Given the description of an element on the screen output the (x, y) to click on. 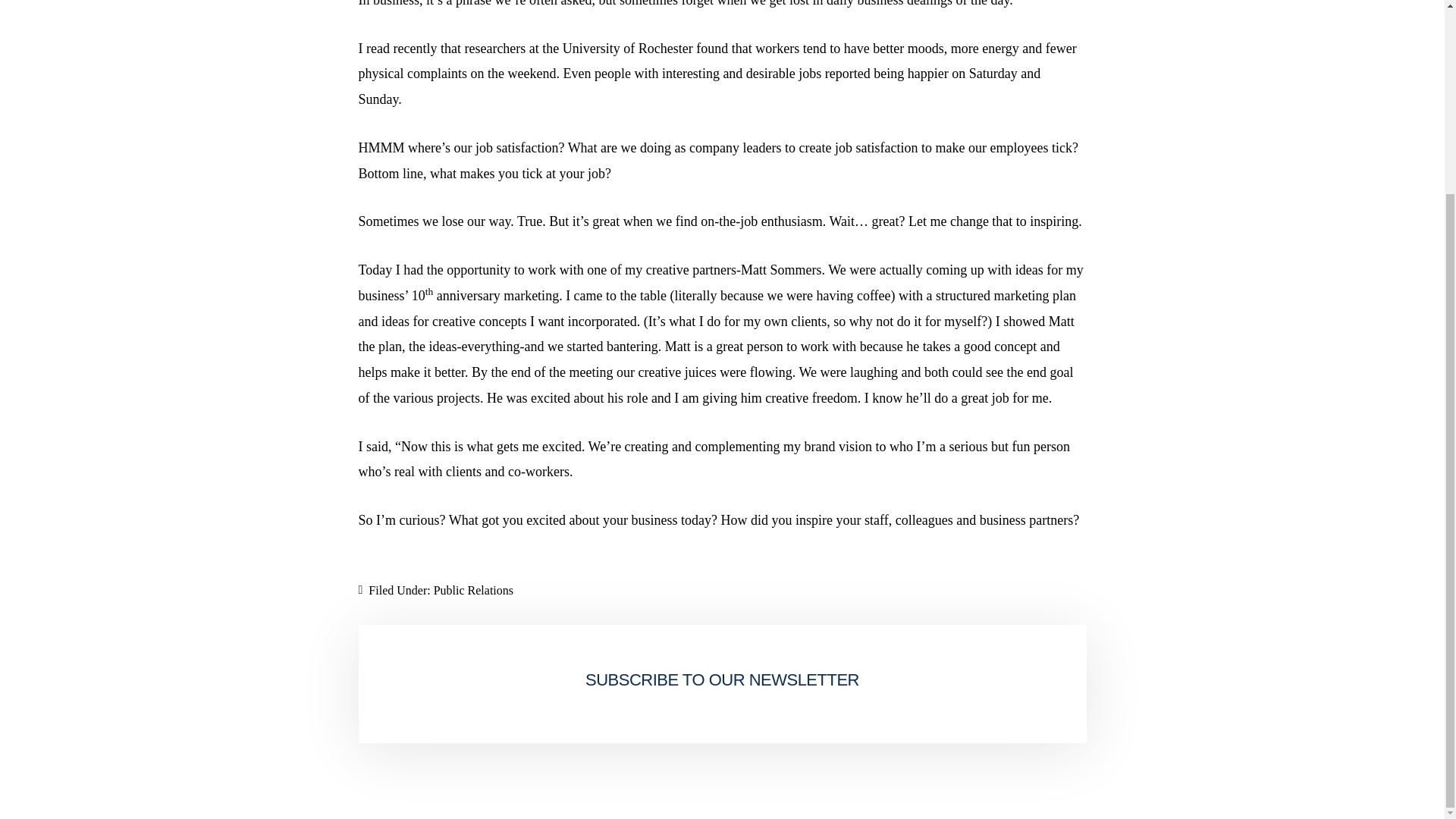
Public Relations (473, 590)
